Given the description of an element on the screen output the (x, y) to click on. 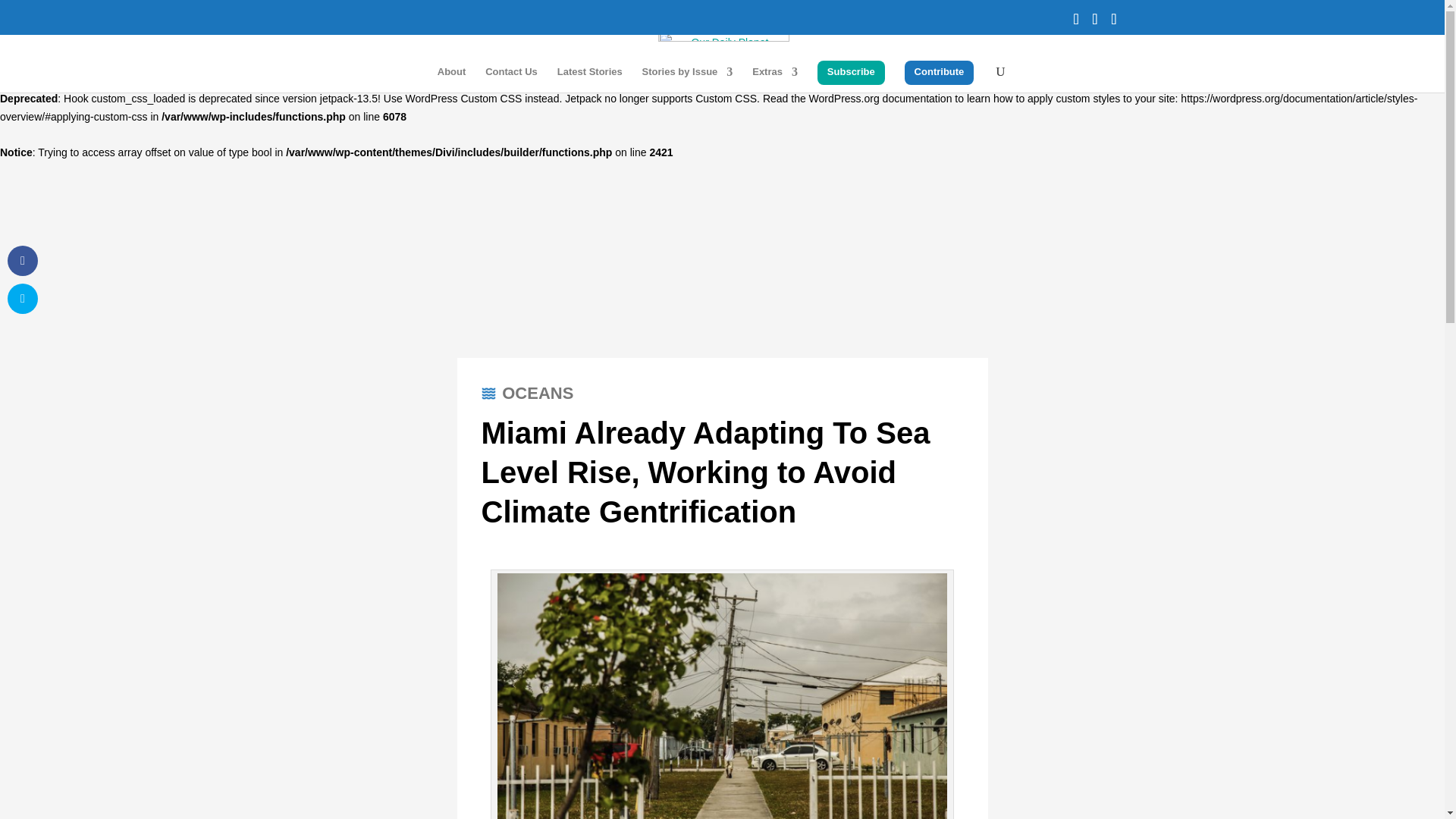
Contribute (939, 72)
About (451, 75)
Latest Stories (590, 75)
Contact Us (510, 75)
Stories by Issue (687, 75)
OCEANS (537, 393)
Subscribe (850, 72)
Extras (774, 75)
